Given the description of an element on the screen output the (x, y) to click on. 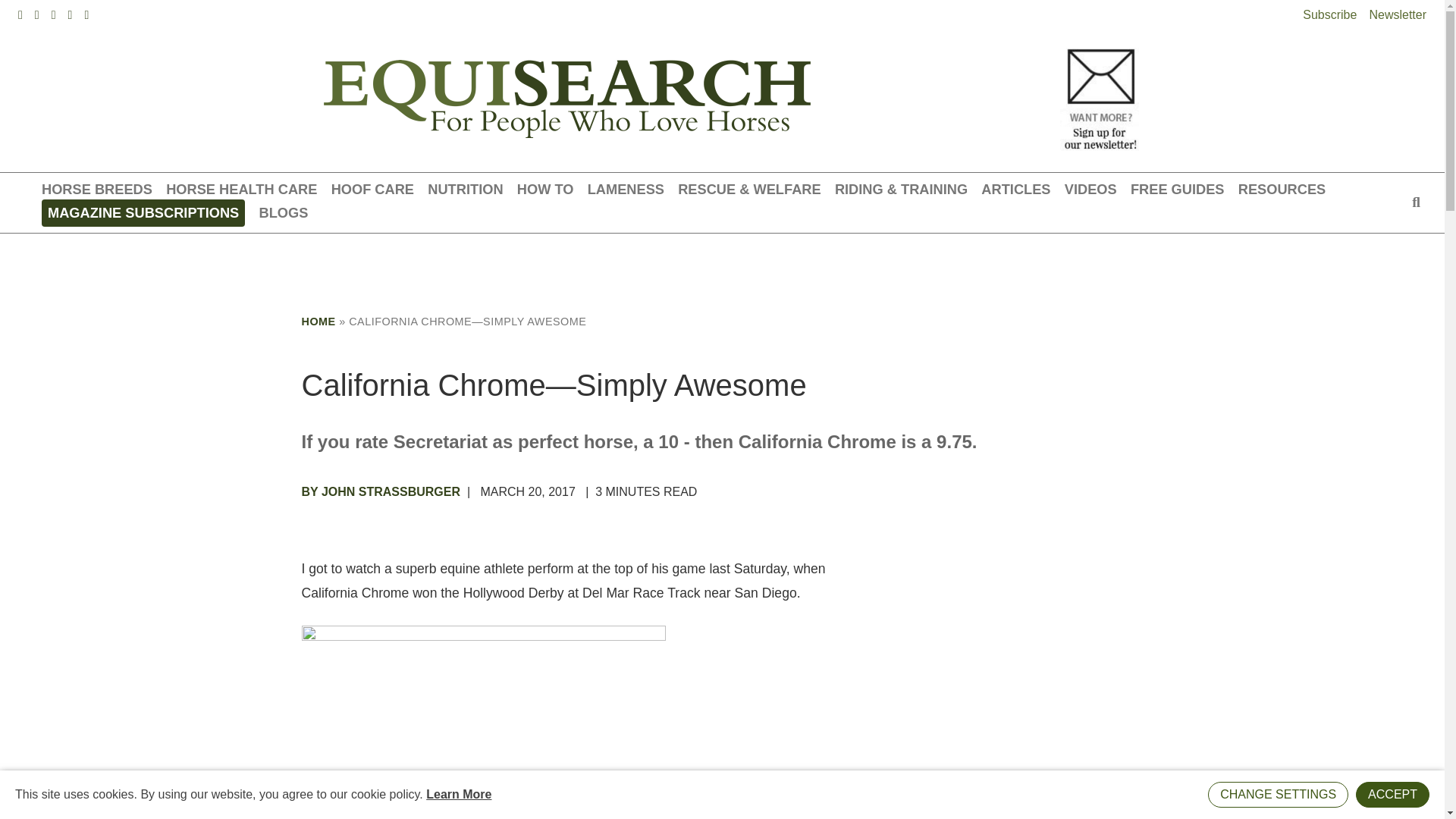
3rd party ad content (721, 267)
3rd party ad content (976, 684)
